Given the description of an element on the screen output the (x, y) to click on. 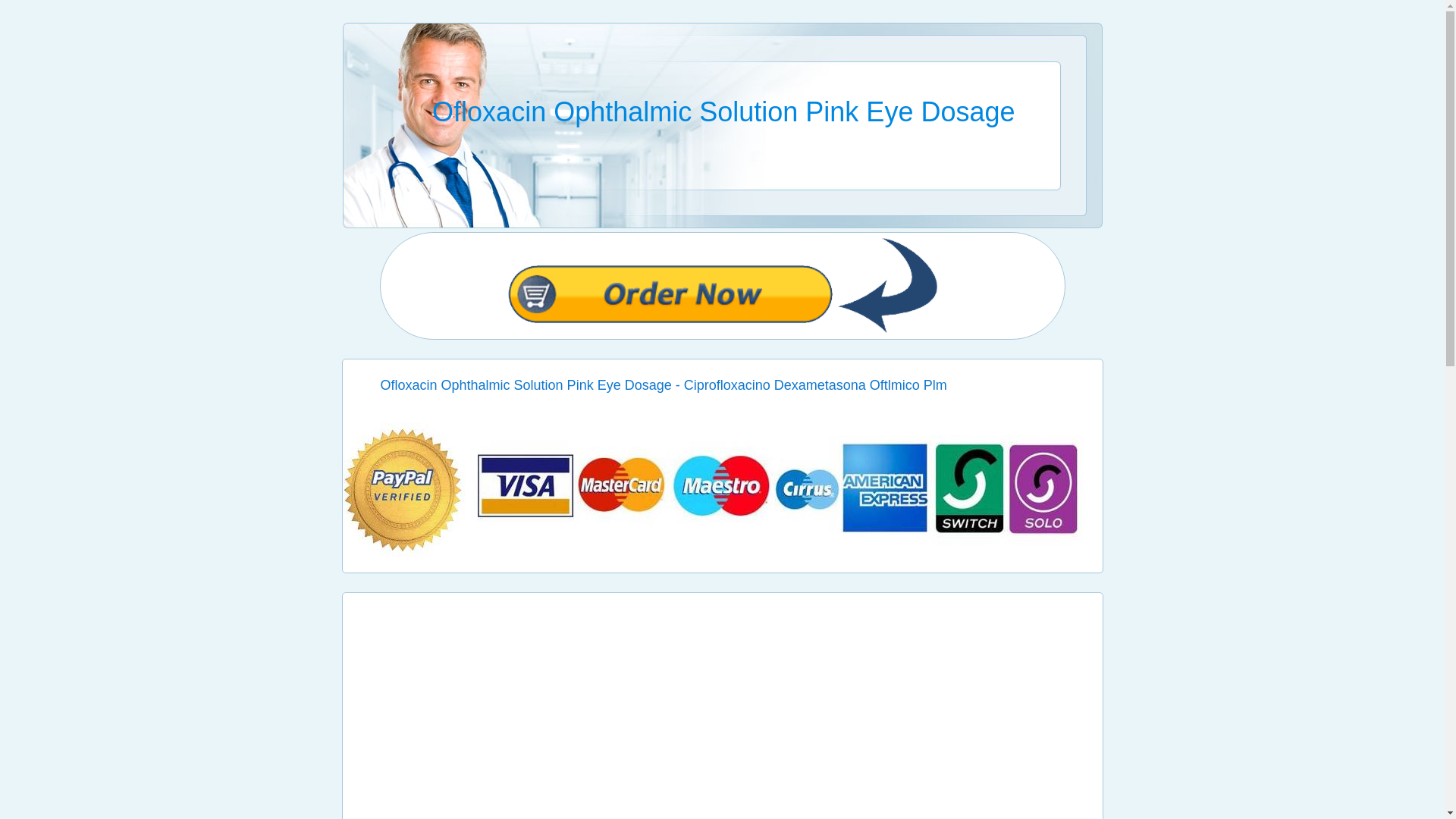
Ofloxacin Ophthalmic Solution Pink Eye Dosage Element type: hover (722, 553)
